Given the description of an element on the screen output the (x, y) to click on. 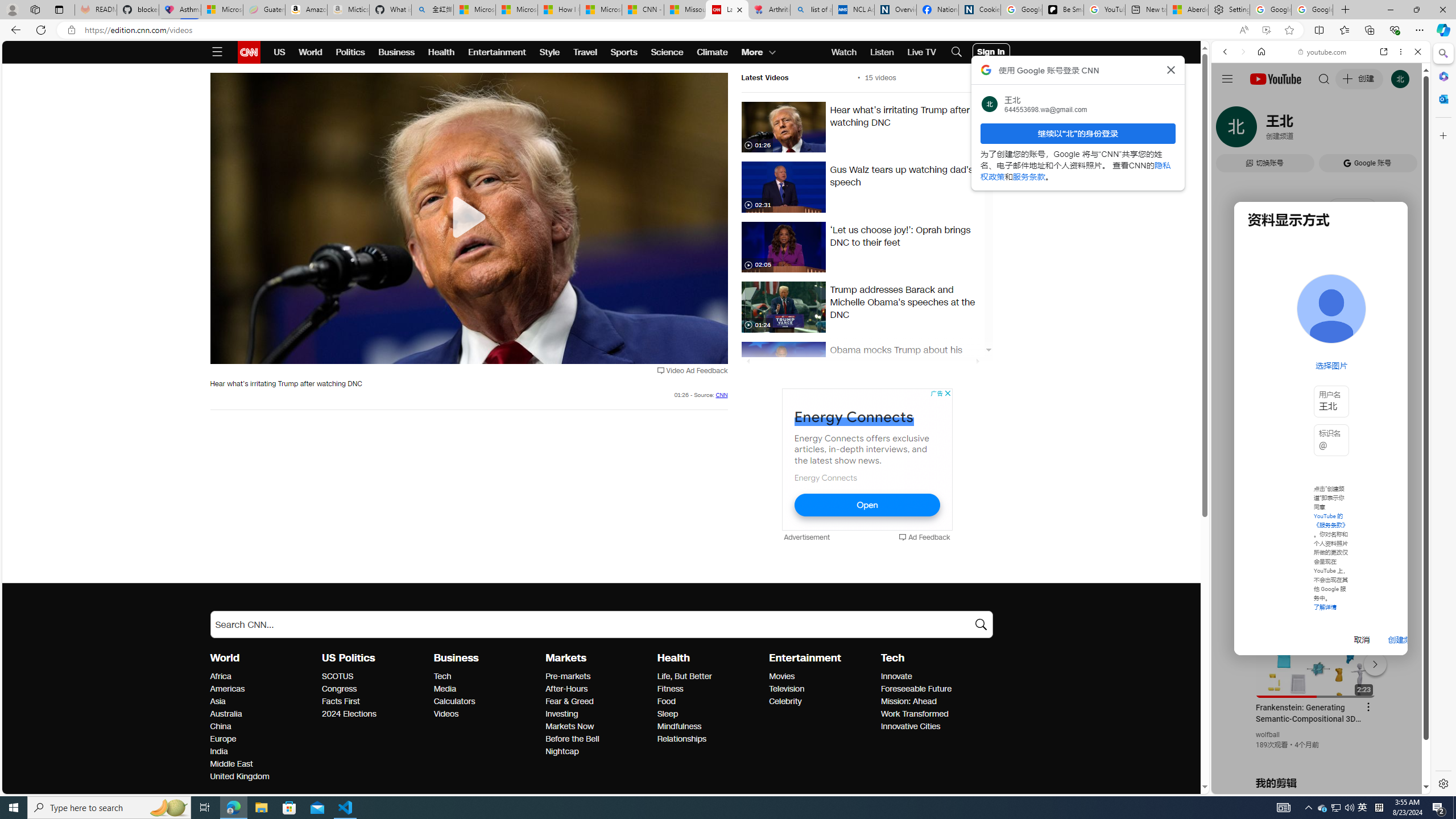
World Americas (226, 688)
Open Menu Icon (216, 52)
Facts First (373, 701)
BusinessTechMediaCalculatorsVideos (489, 685)
How I Got Rid of Microsoft Edge's Unnecessary Features (558, 9)
Tech Foreseeable Future (916, 688)
Trailer #2 [HD] (1320, 337)
US[ju] (1249, 785)
Google (1266, 331)
World Australia (225, 713)
